Given the description of an element on the screen output the (x, y) to click on. 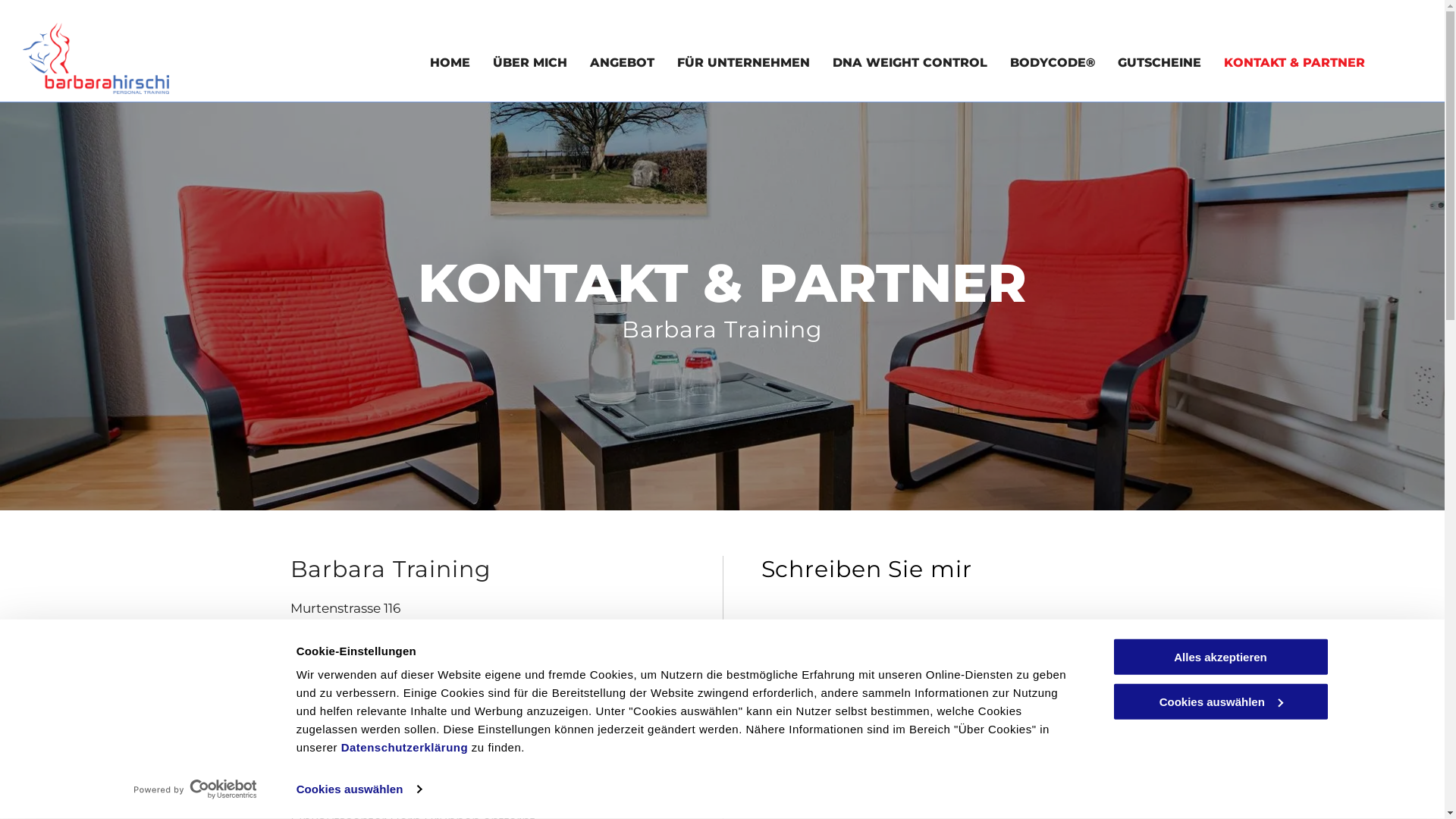
GUTSCHEINE Element type: text (1159, 62)
Alles akzeptieren Element type: text (1219, 656)
079 601 06 58 Element type: text (387, 681)
info@barbara-training.ch Element type: text (415, 705)
KONTAKT & PARTNER Element type: text (1294, 62)
DNA WEIGHT CONTROL Element type: text (909, 62)
ANGEBOT Element type: text (621, 62)
HOME Element type: text (449, 62)
